Given the description of an element on the screen output the (x, y) to click on. 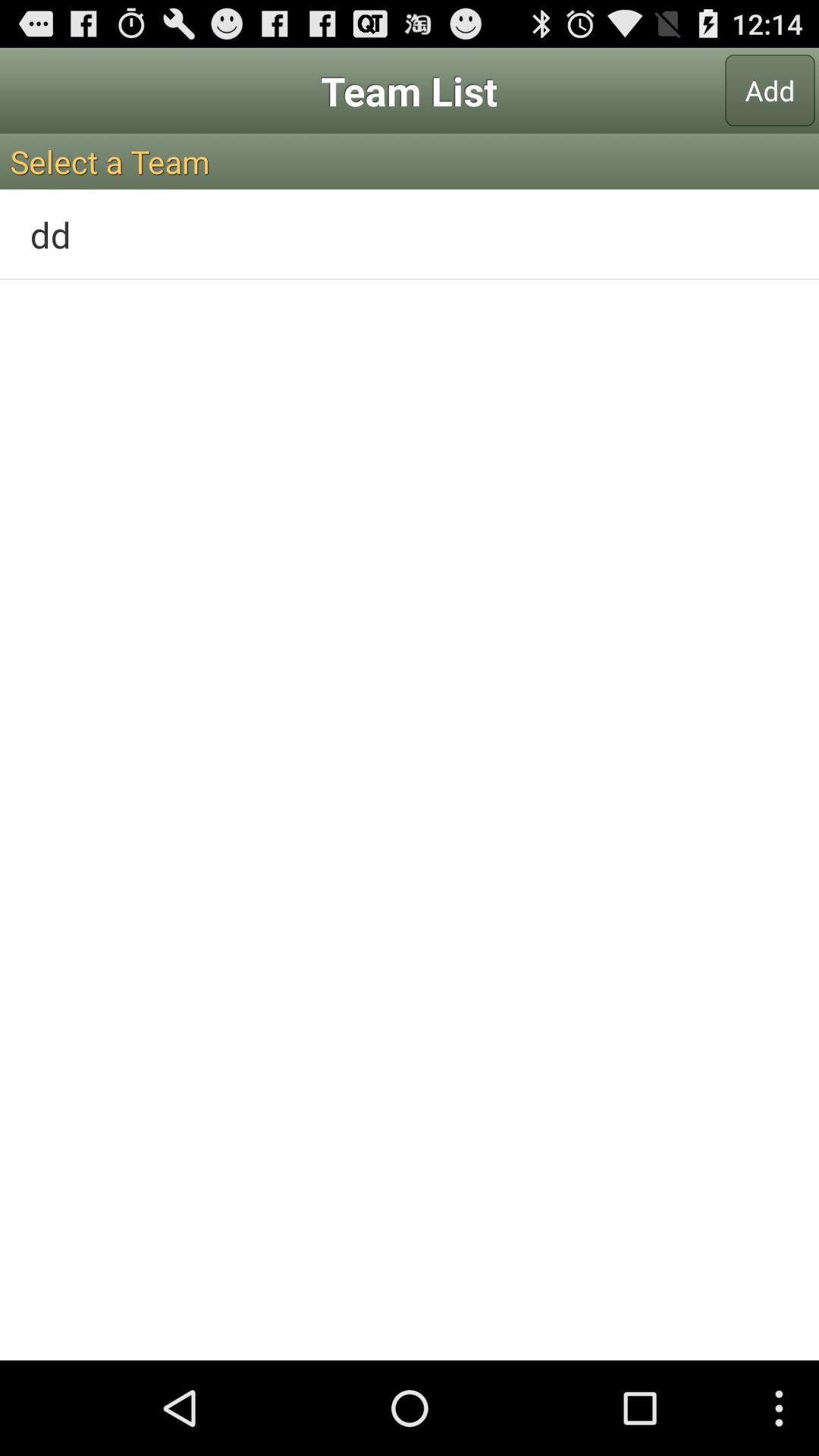
click the add icon (770, 90)
